Given the description of an element on the screen output the (x, y) to click on. 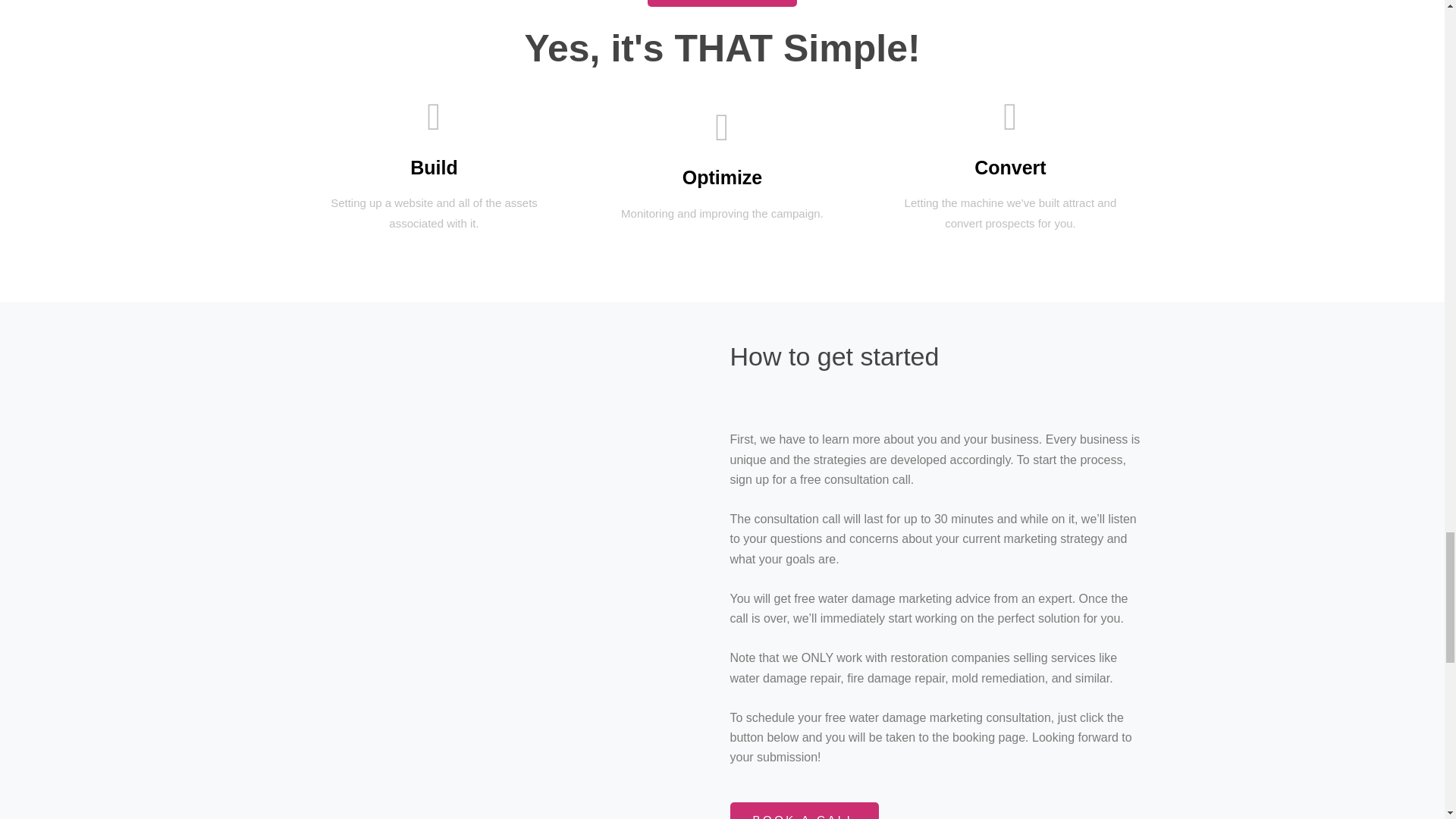
BOOK A CALL (803, 810)
BOOK A CALL (721, 3)
